Given the description of an element on the screen output the (x, y) to click on. 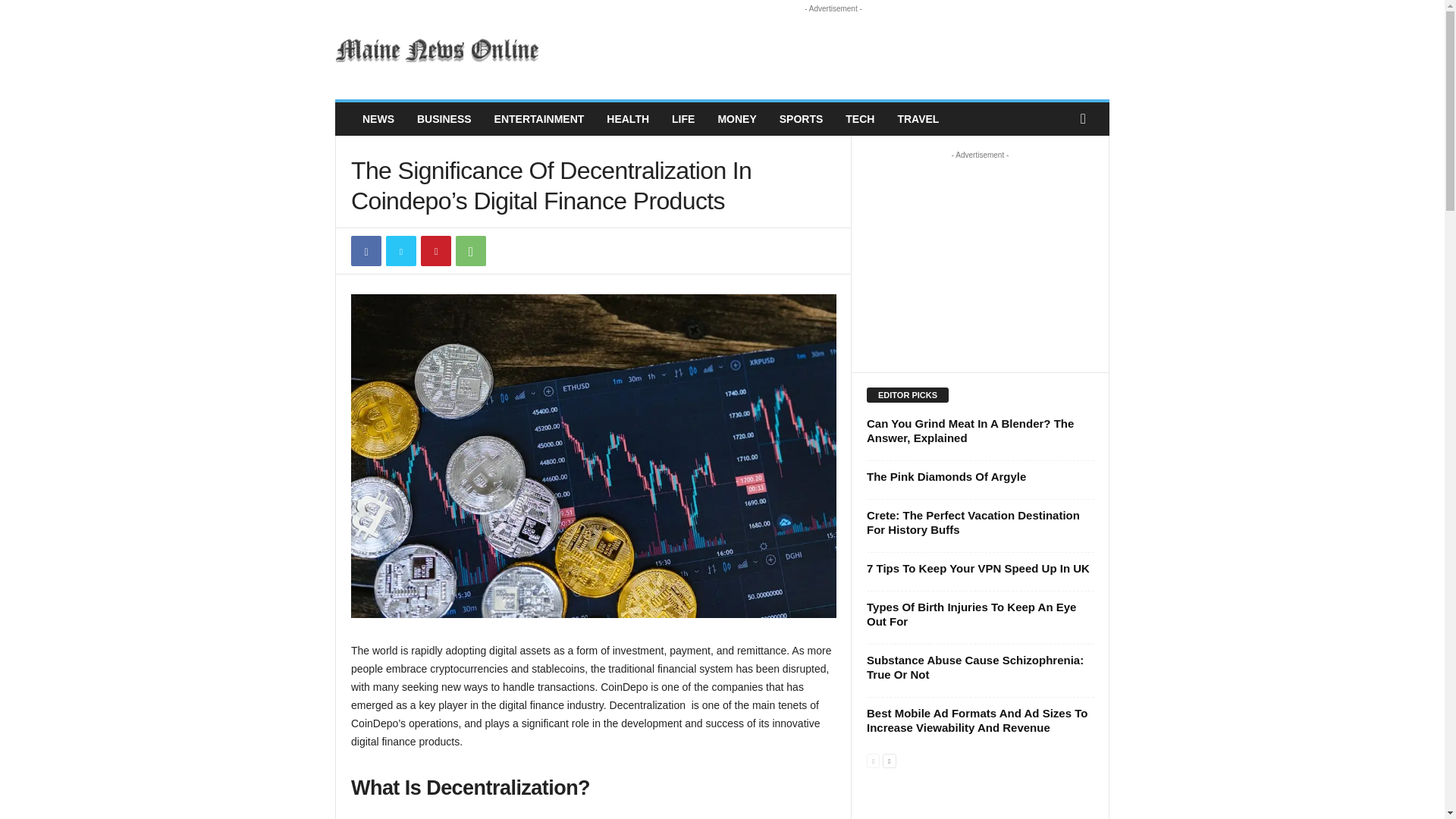
ENTERTAINMENT (539, 118)
Advertisement (833, 49)
NEWS (378, 118)
MONEY (736, 118)
TRAVEL (917, 118)
LIFE (683, 118)
TECH (859, 118)
Twitter (400, 250)
WhatsApp (470, 250)
Maine News Online (437, 49)
Pinterest (435, 250)
SPORTS (801, 118)
BUSINESS (444, 118)
HEALTH (628, 118)
Facebook (365, 250)
